Given the description of an element on the screen output the (x, y) to click on. 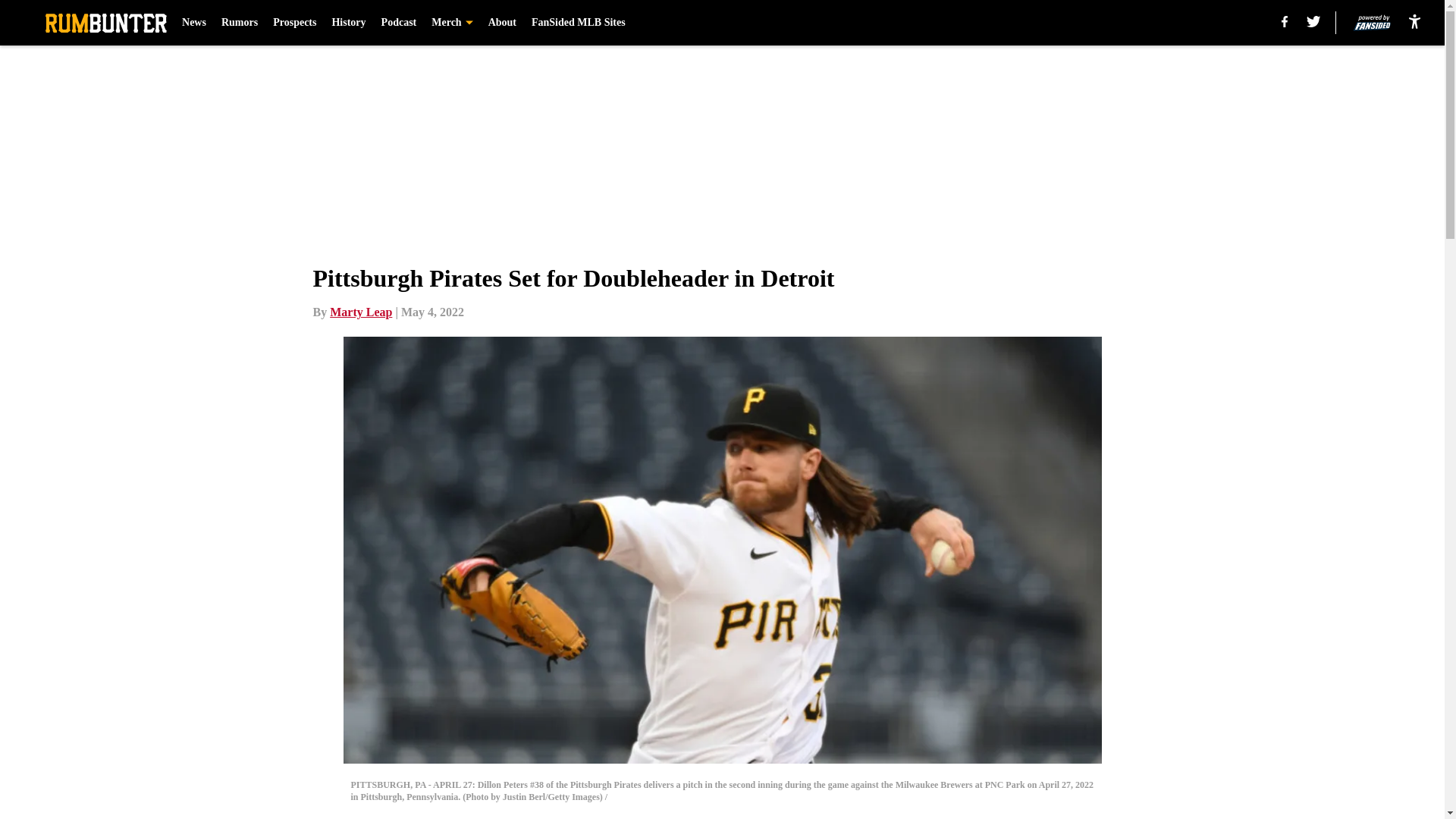
About (501, 22)
Rumors (239, 22)
Podcast (398, 22)
Marty Leap (360, 311)
History (348, 22)
FanSided MLB Sites (578, 22)
Prospects (294, 22)
News (194, 22)
